Given the description of an element on the screen output the (x, y) to click on. 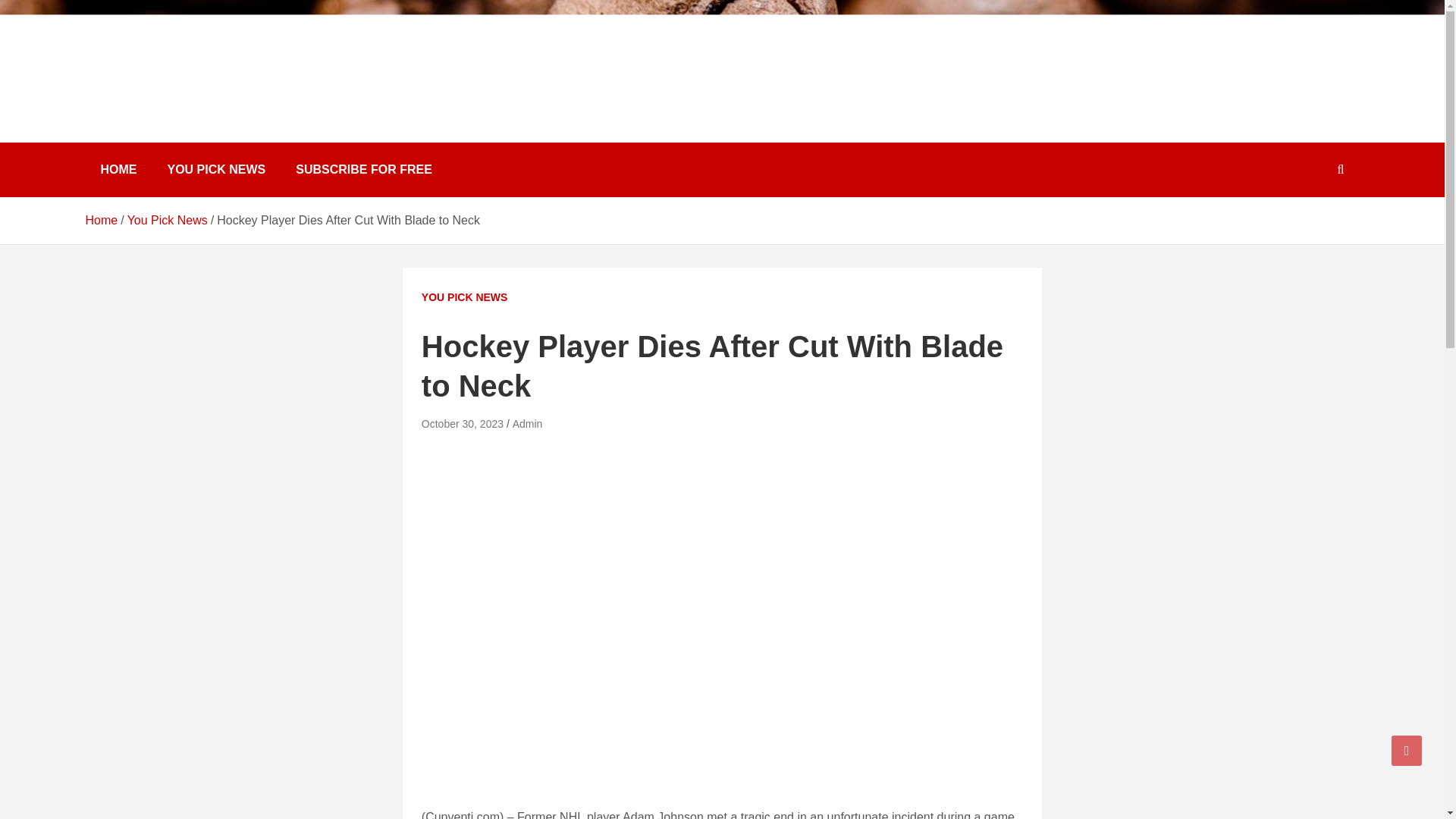
SUBSCRIBE FOR FREE (363, 169)
Admin (527, 423)
YOU PICK NEWS (216, 169)
You Pick News (168, 219)
cupventi.com (182, 94)
Home (100, 219)
YOU PICK NEWS (465, 296)
Go to Top (1406, 750)
HOME (117, 169)
